Given the description of an element on the screen output the (x, y) to click on. 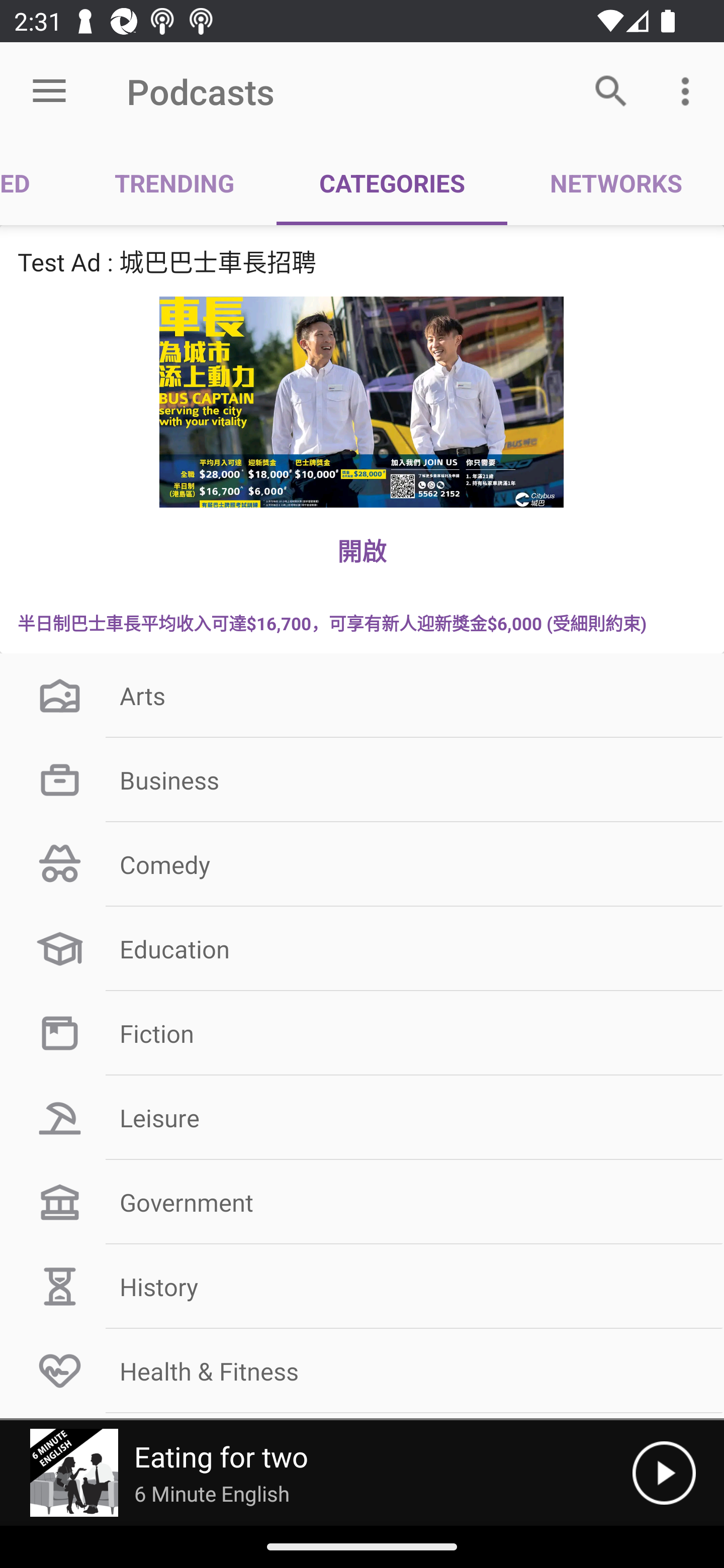
Open menu (49, 91)
Search (611, 90)
More options (688, 90)
TRENDING (174, 183)
CATEGORIES (391, 183)
NETWORKS (615, 183)
Test Ad : 城巴巴士車長招聘 (361, 261)
開啟 (362, 550)
半日制巴士車長平均收入可達$16,700，可享有新人迎新獎金$6,000 (受細則約束) (361, 622)
Arts (362, 695)
Business (362, 779)
Comedy (362, 863)
Education (362, 948)
Fiction (362, 1032)
Leisure (362, 1117)
Government (362, 1202)
History (362, 1286)
Health & Fitness (362, 1370)
Picture Eating for two 6 Minute English (316, 1472)
Play (663, 1472)
